Given the description of an element on the screen output the (x, y) to click on. 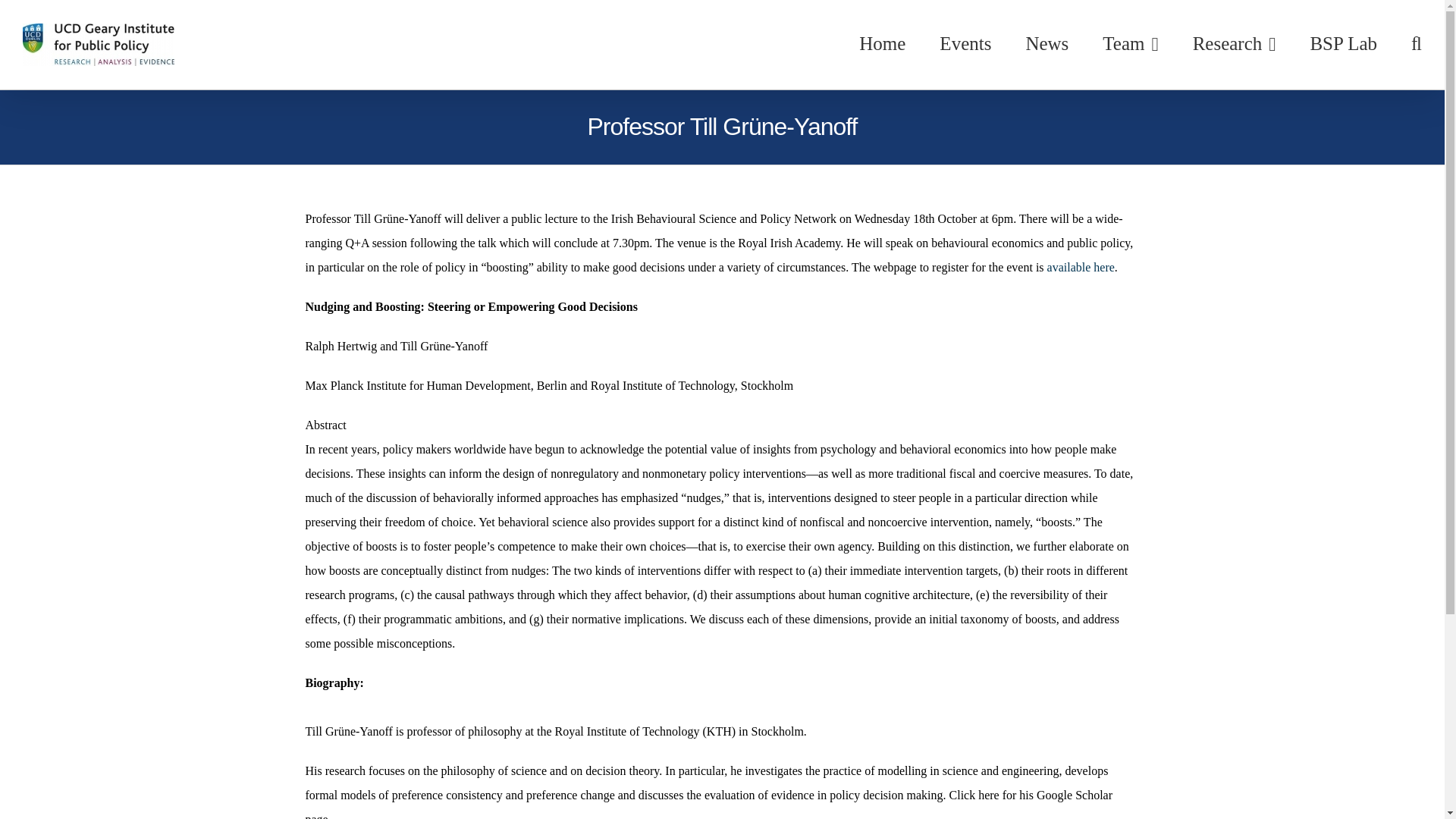
Research (1234, 43)
available here (1080, 267)
